Given the description of an element on the screen output the (x, y) to click on. 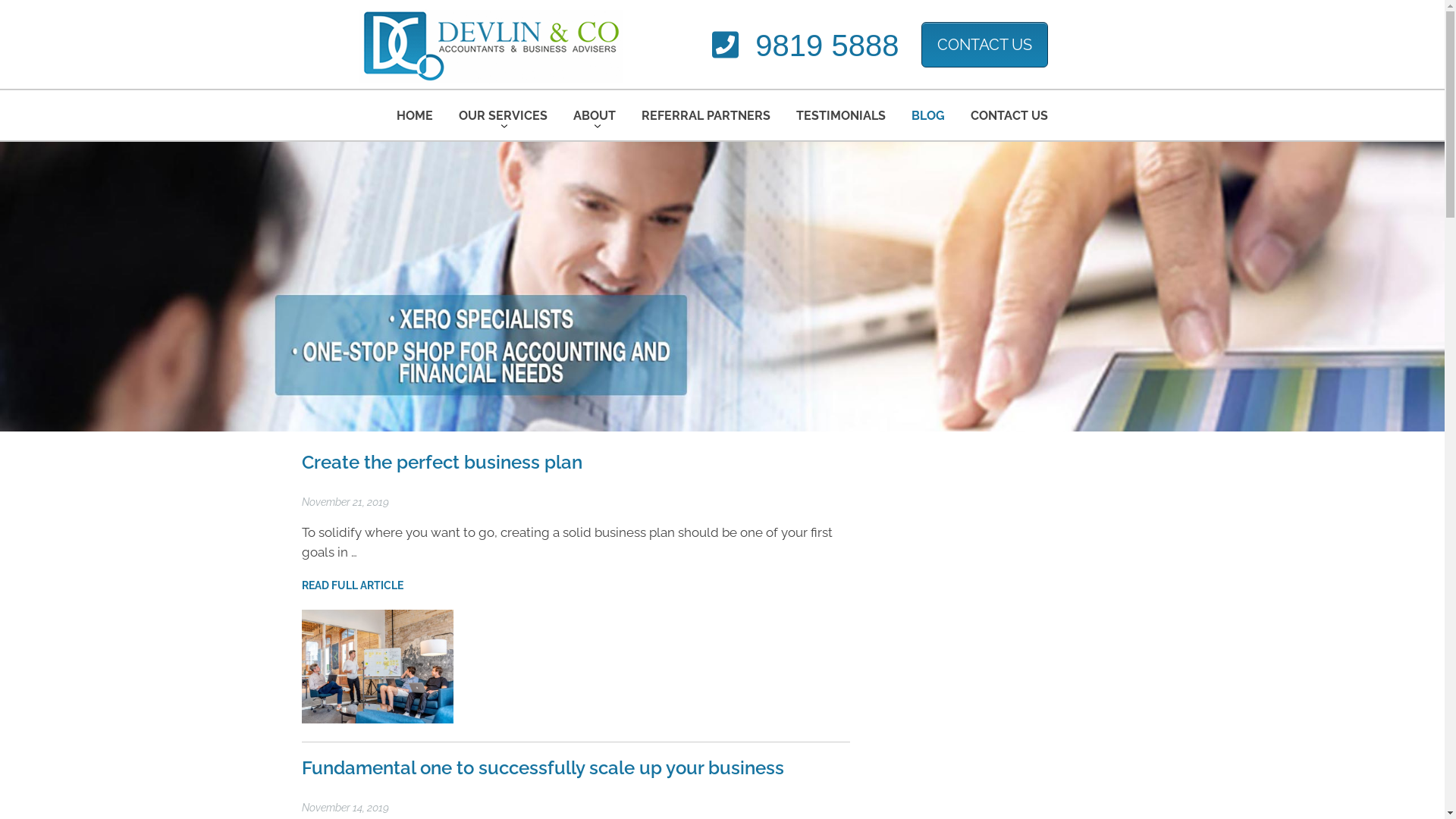
TESTIMONIALS Element type: text (840, 115)
Fundamental one to successfully scale up your business Element type: text (542, 767)
Create the perfect business plan Element type: text (441, 462)
CONTACT US Element type: text (984, 43)
HOME Element type: text (414, 115)
CONTACT US Element type: text (1008, 115)
READ FULL ARTICLE Element type: text (352, 585)
November 21, 2019 Element type: text (345, 501)
  9819 5888 Element type: text (805, 45)
ABOUT Element type: text (594, 115)
REFERRAL PARTNERS Element type: text (705, 115)
CONTACT US Element type: text (988, 43)
November 14, 2019 Element type: text (345, 807)
BLOG Element type: text (927, 115)
OUR SERVICES Element type: text (502, 115)
